Given the description of an element on the screen output the (x, y) to click on. 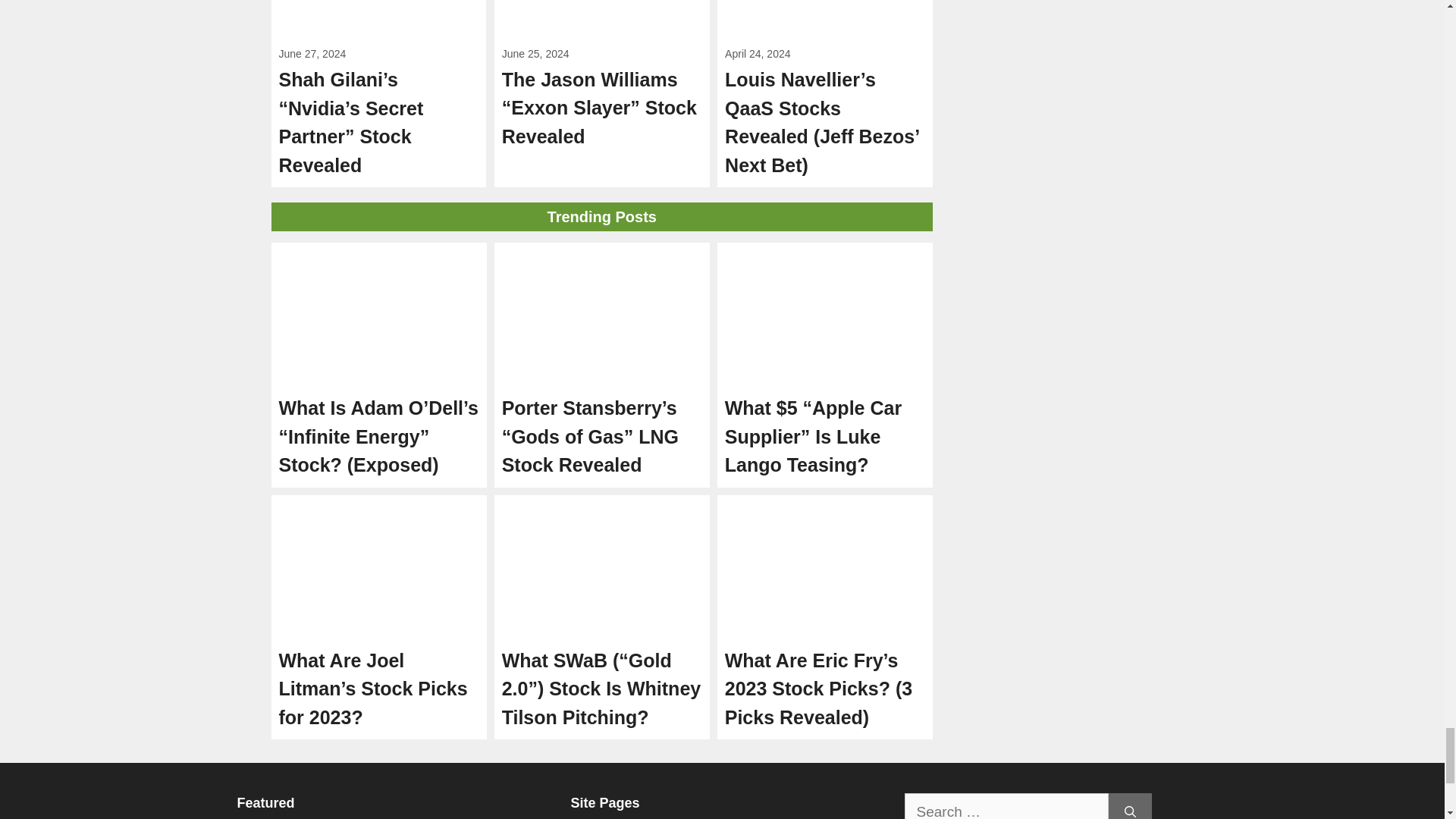
Search for: (1006, 806)
